Given the description of an element on the screen output the (x, y) to click on. 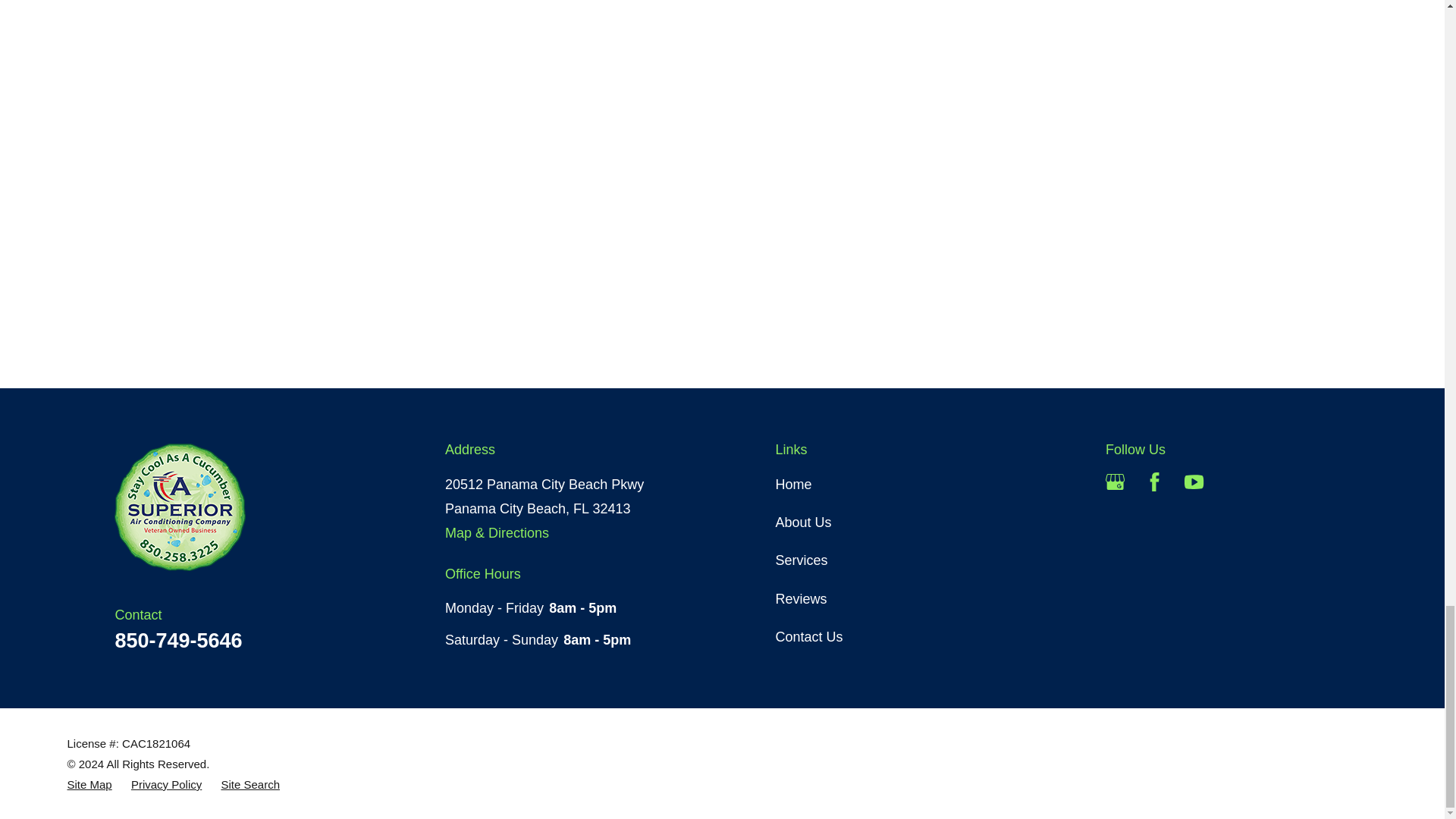
A Superior Air Conditioning Company (180, 507)
Home (224, 507)
Facebook (1153, 481)
Google Business Profile (1114, 481)
YouTube (1194, 481)
